Given the description of an element on the screen output the (x, y) to click on. 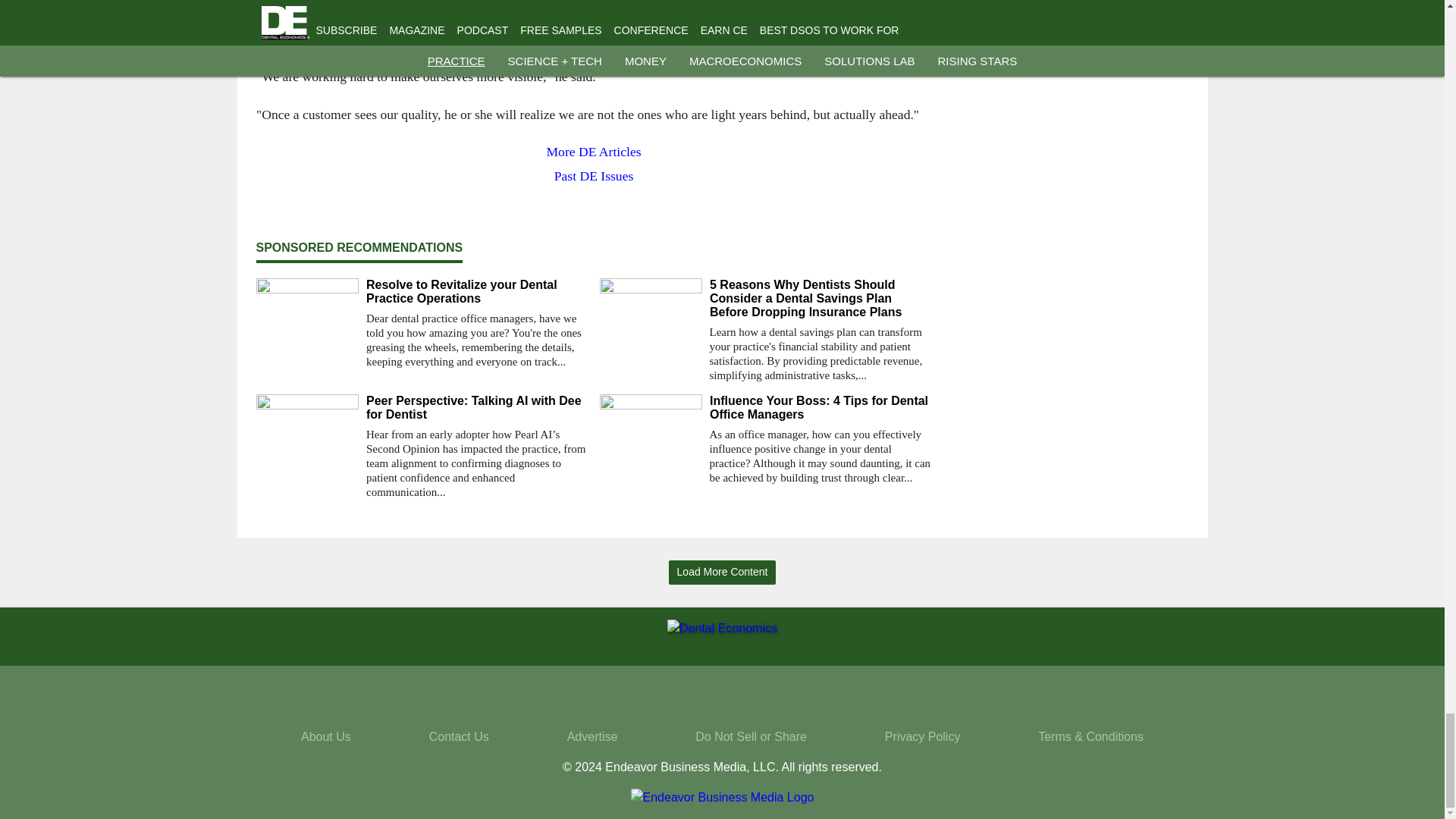
Influence Your Boss: 4 Tips for Dental Office Managers (820, 407)
Peer Perspective: Talking AI with Dee for Dentist (476, 407)
Resolve to Revitalize your Dental Practice Operations (476, 291)
More DE Articles (593, 151)
Past DE Issues (593, 176)
